Given the description of an element on the screen output the (x, y) to click on. 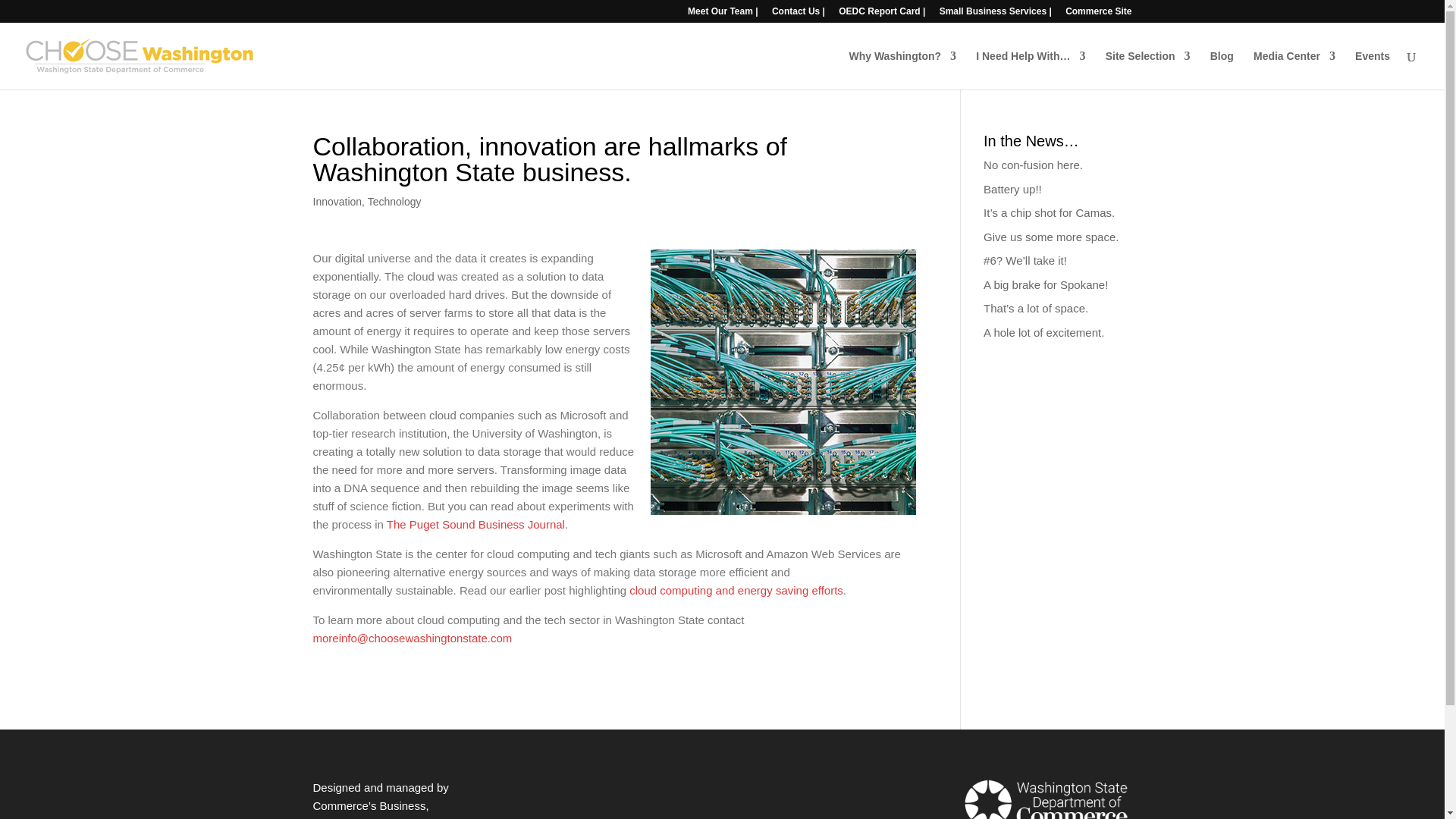
Why Washington? (902, 69)
Commerce Site (1098, 14)
